Given the description of an element on the screen output the (x, y) to click on. 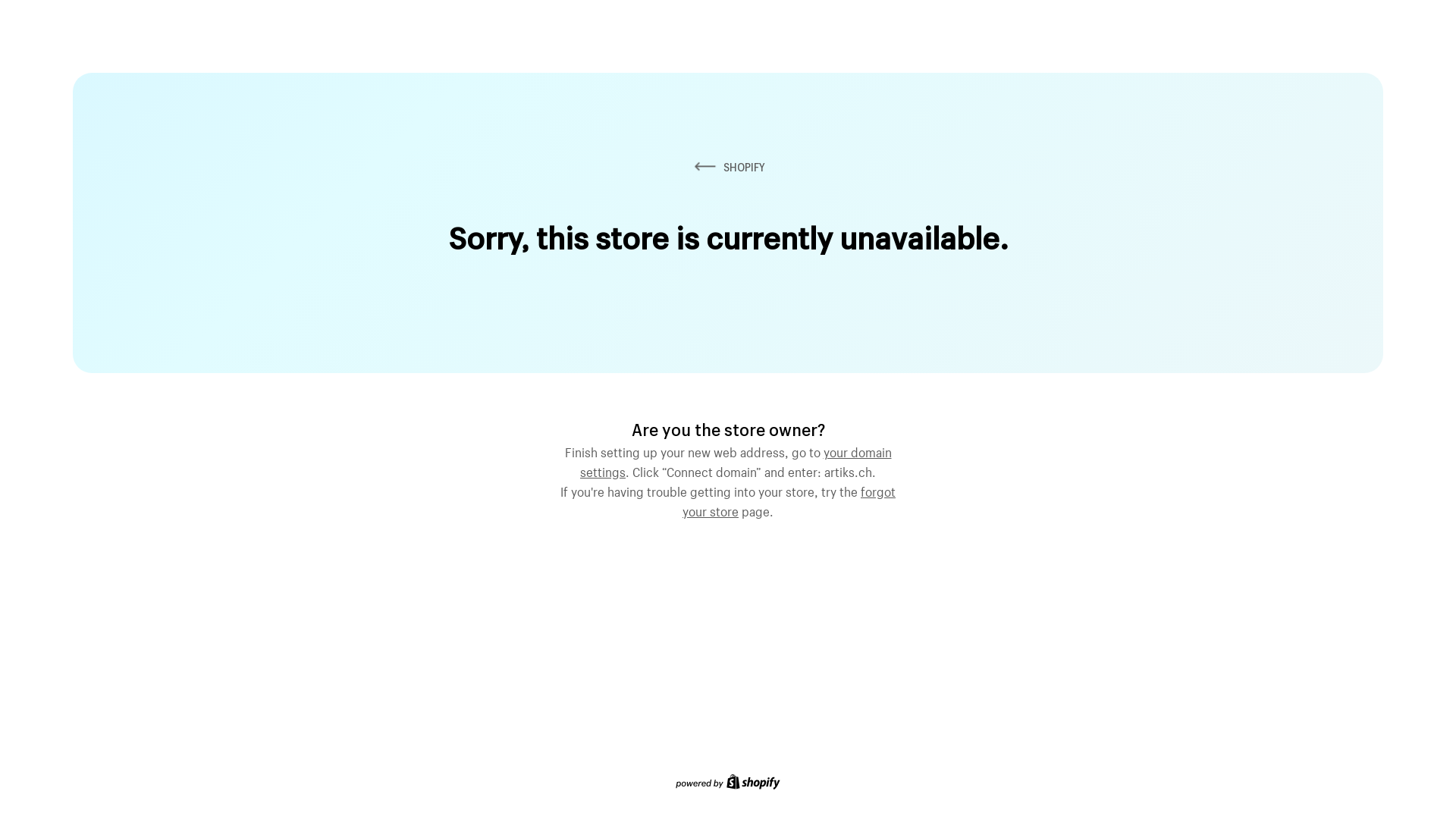
SHOPIFY Element type: text (727, 167)
your domain settings Element type: text (735, 460)
forgot your store Element type: text (788, 499)
